Given the description of an element on the screen output the (x, y) to click on. 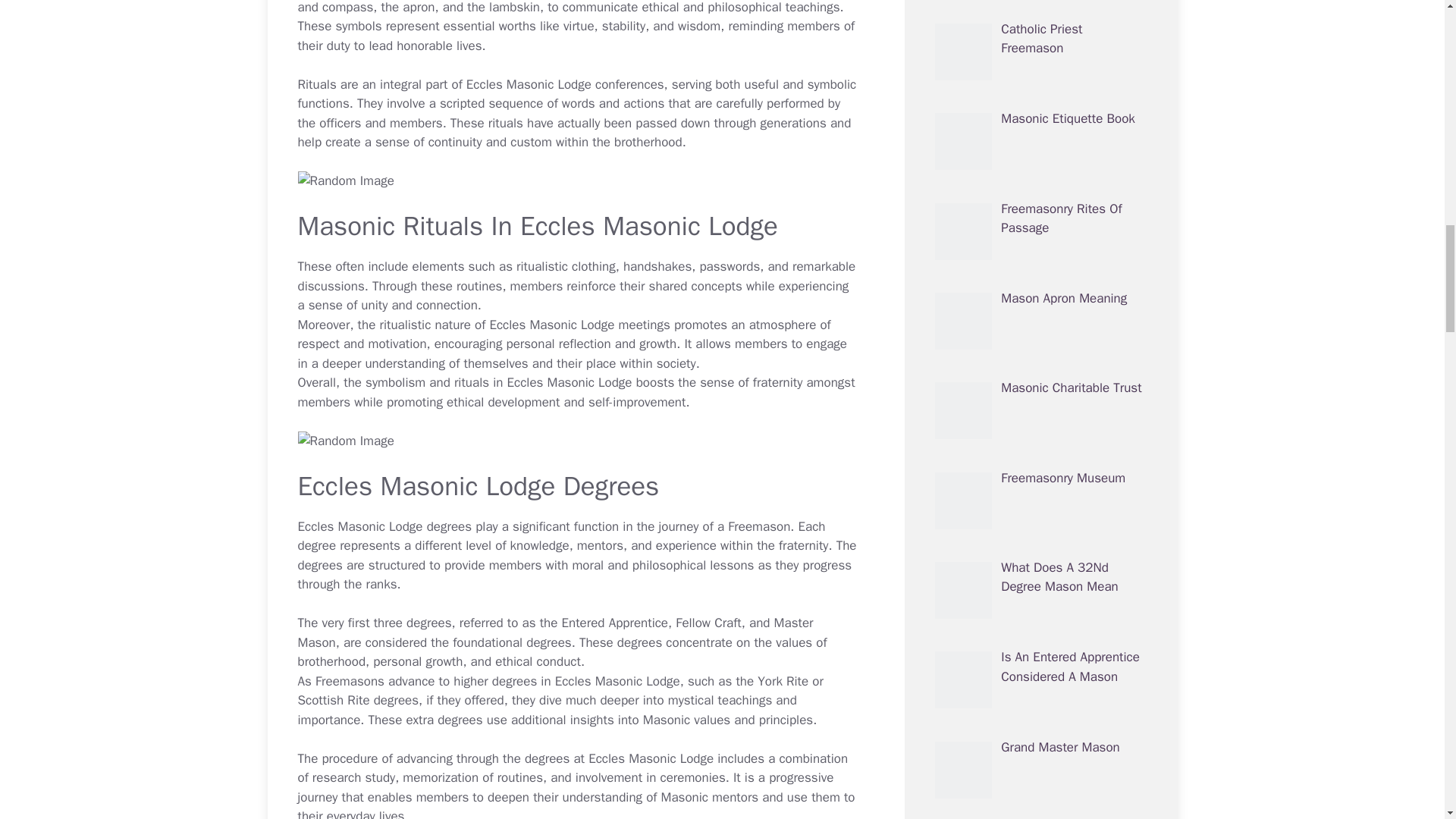
Freemason Temple Ceremony (1054, 90)
Speculative Masonry (1058, 170)
Masonic Swivel Signet Ring (1010, 505)
32 Degree Masonic Consistory (1056, 270)
Freemason Greeting Handshake (1024, 453)
Masonic Order Of Athelstan (1050, 9)
Masonic Desk Items (991, 479)
